Given the description of an element on the screen output the (x, y) to click on. 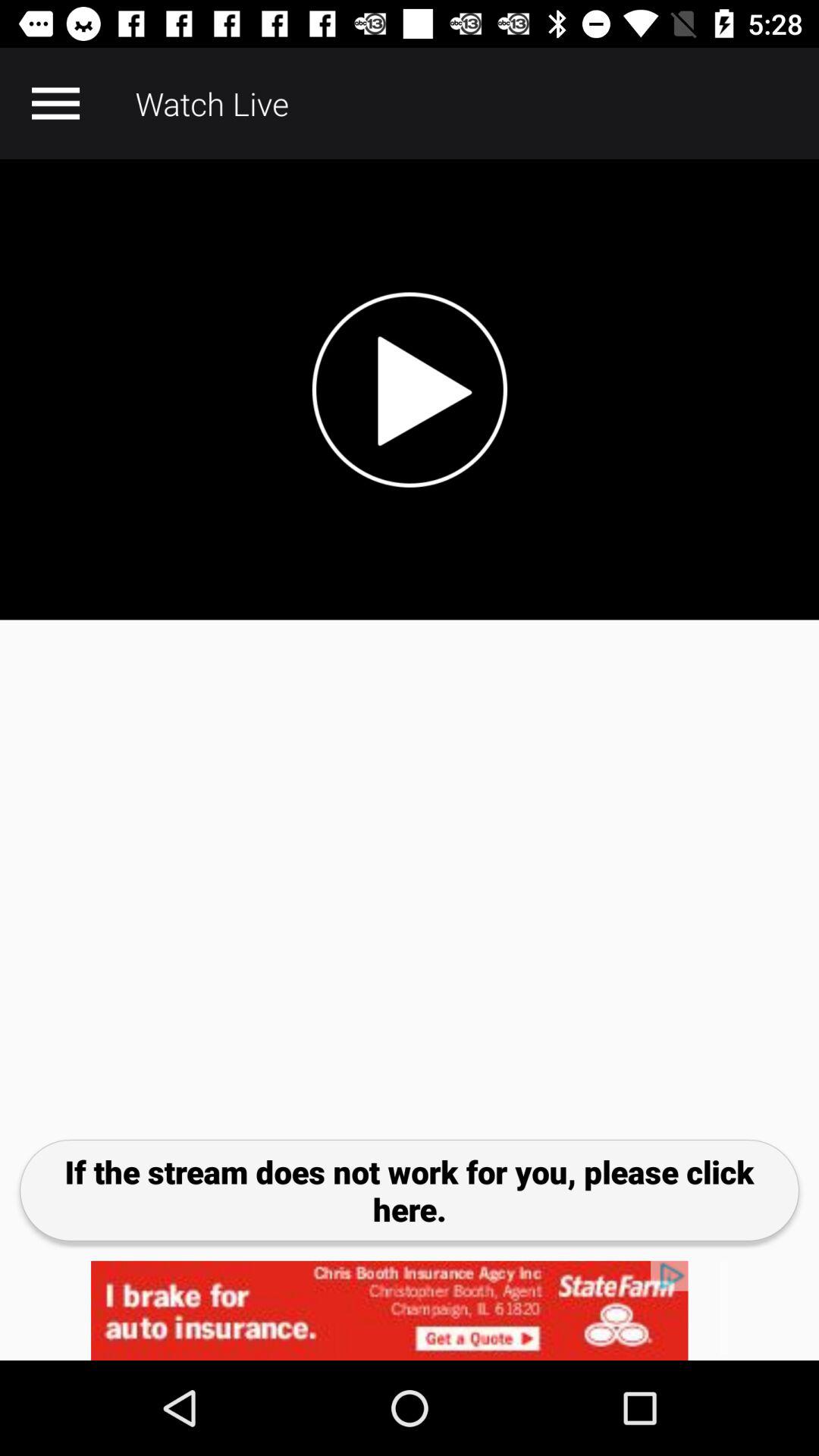
play video (409, 389)
